Given the description of an element on the screen output the (x, y) to click on. 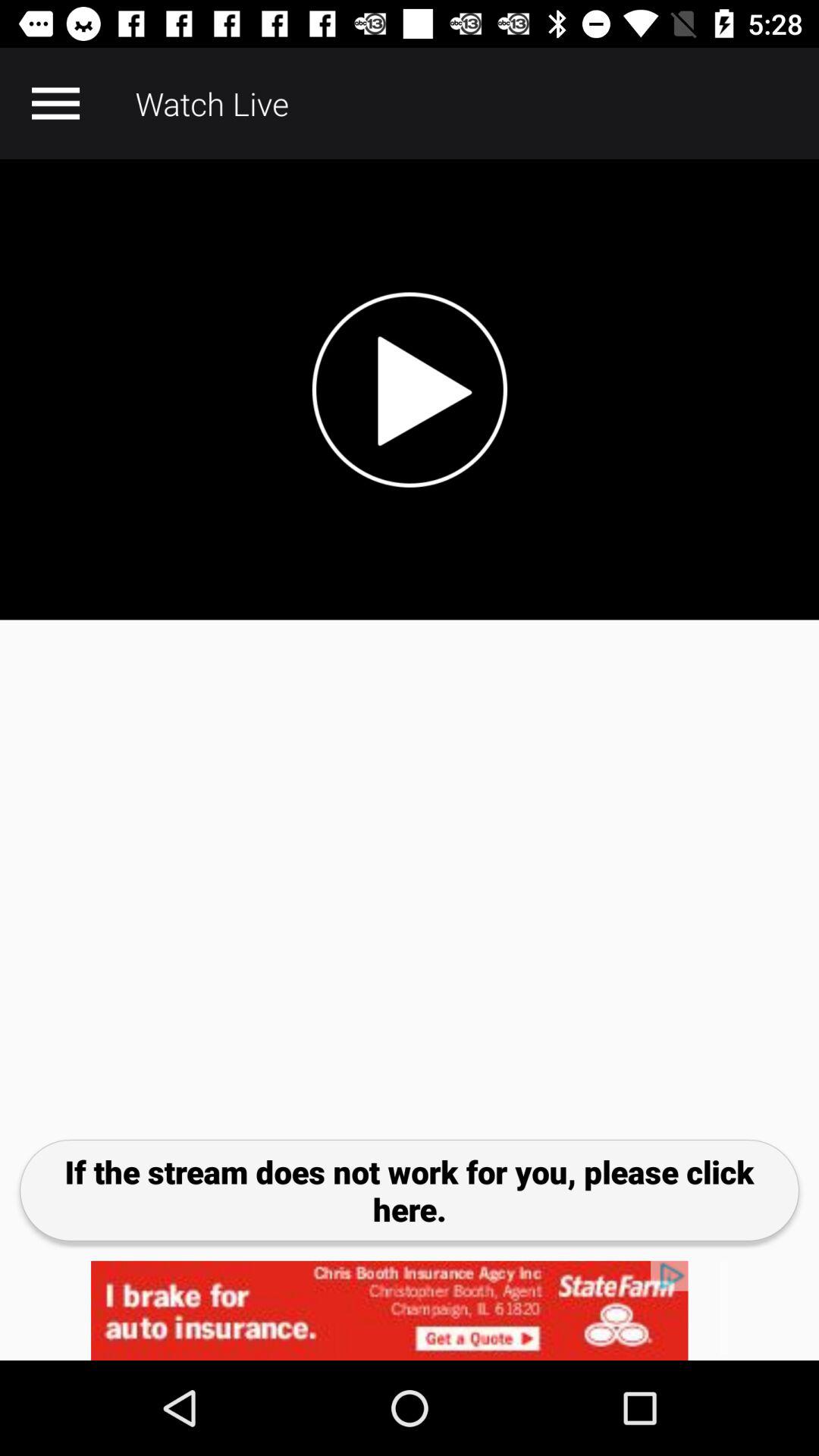
play video (409, 389)
